Given the description of an element on the screen output the (x, y) to click on. 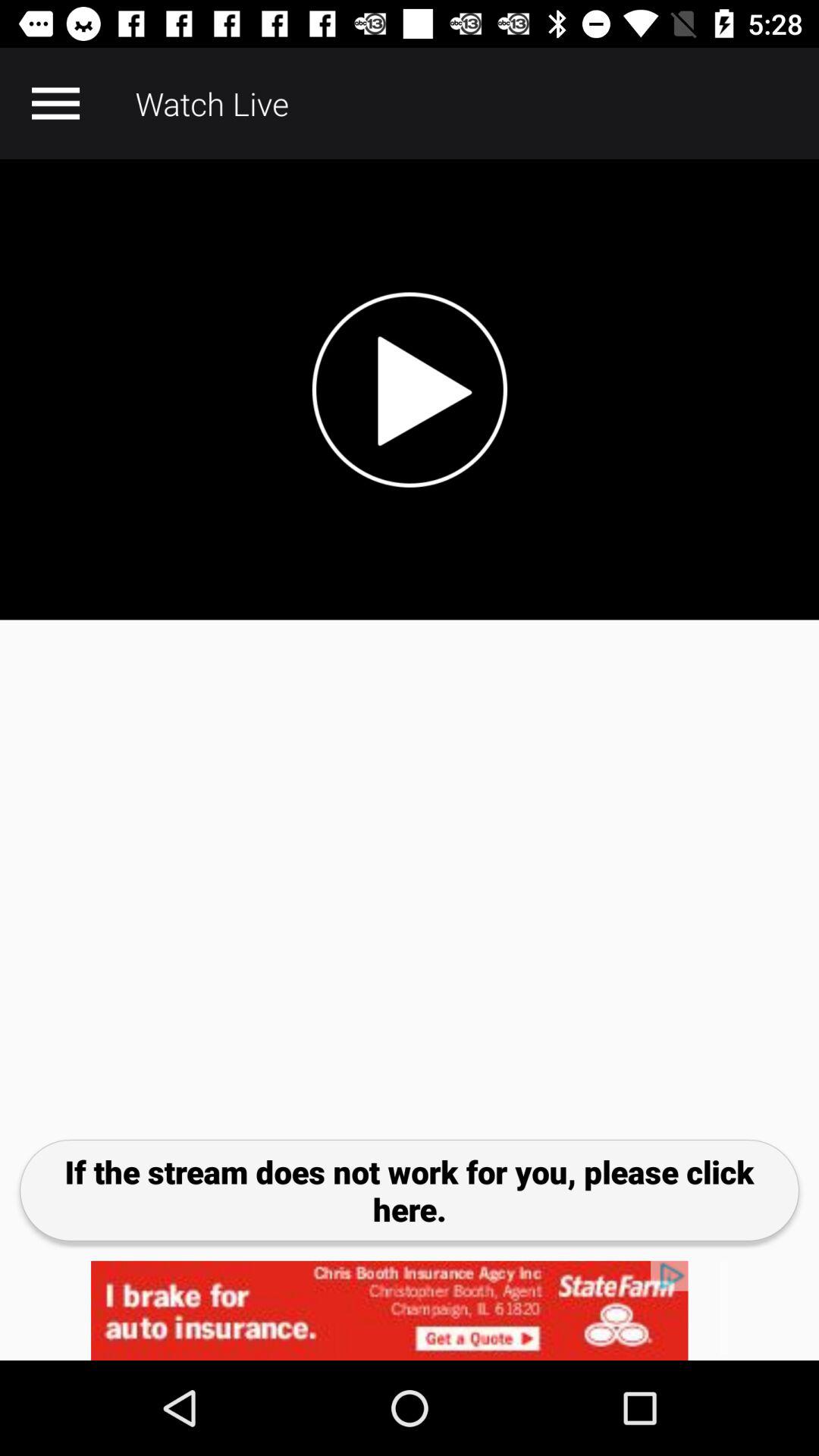
play video (409, 389)
